Given the description of an element on the screen output the (x, y) to click on. 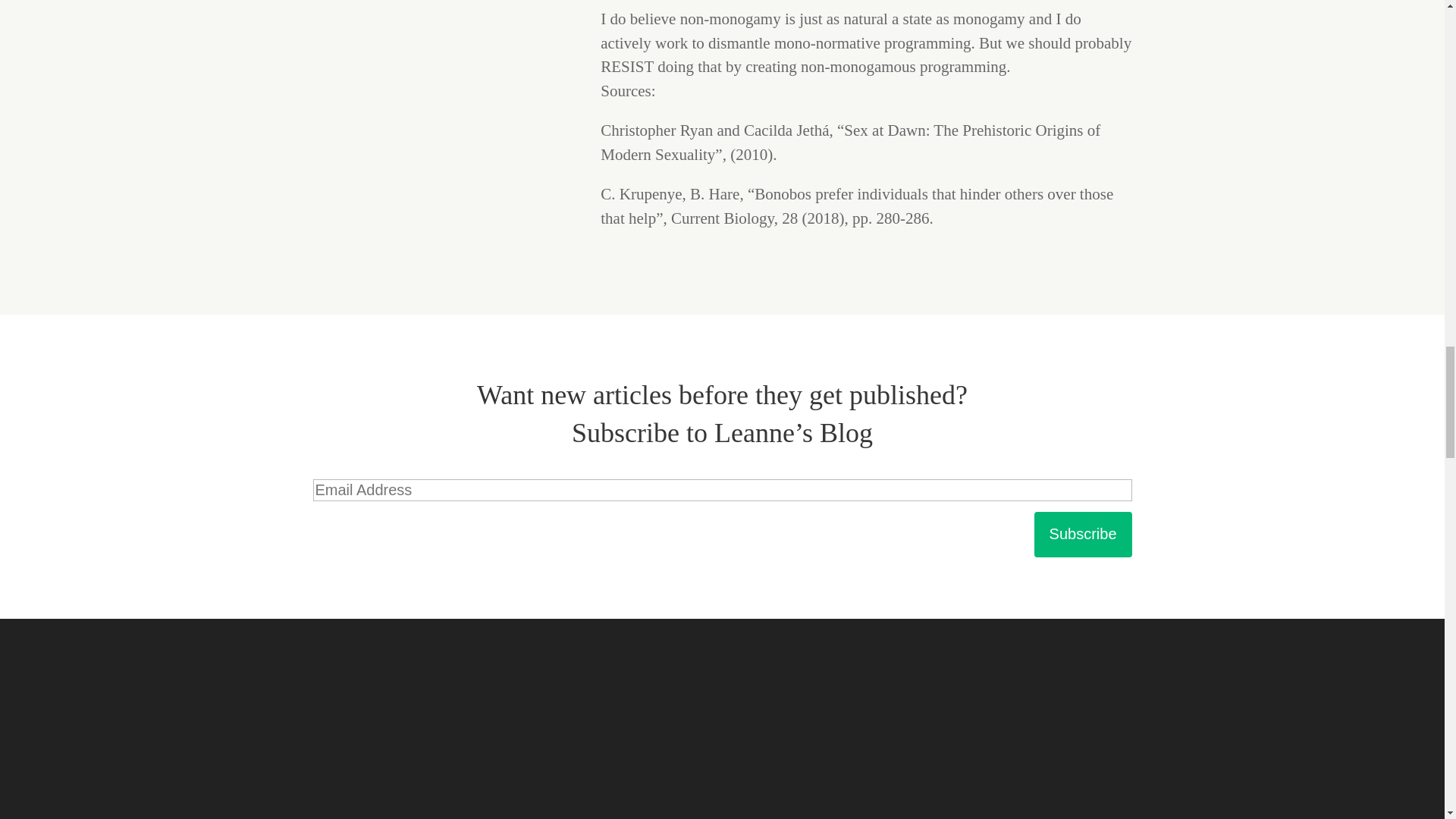
Subscribe (1082, 534)
